Given the description of an element on the screen output the (x, y) to click on. 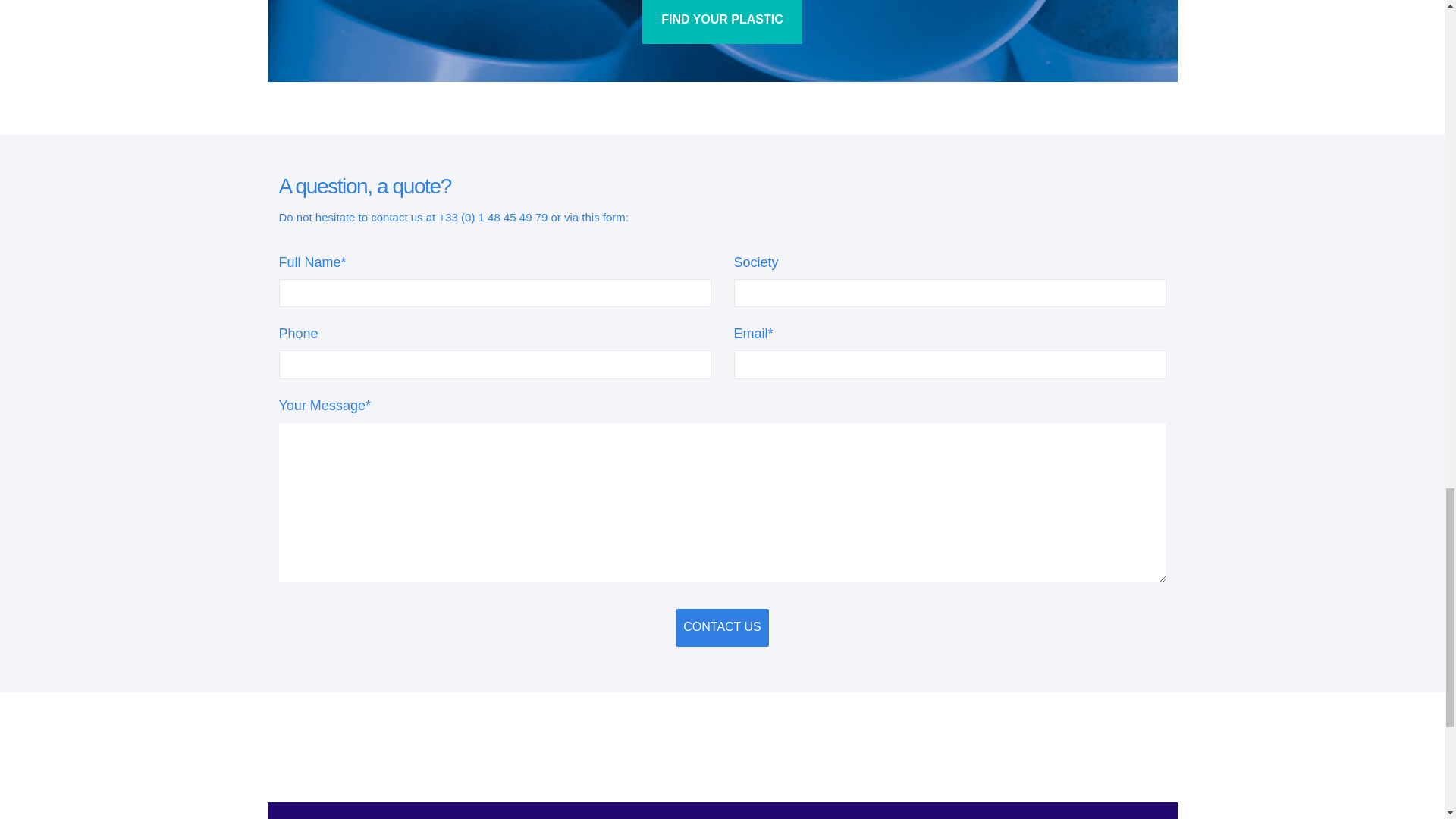
Contact us (721, 628)
